Given the description of an element on the screen output the (x, y) to click on. 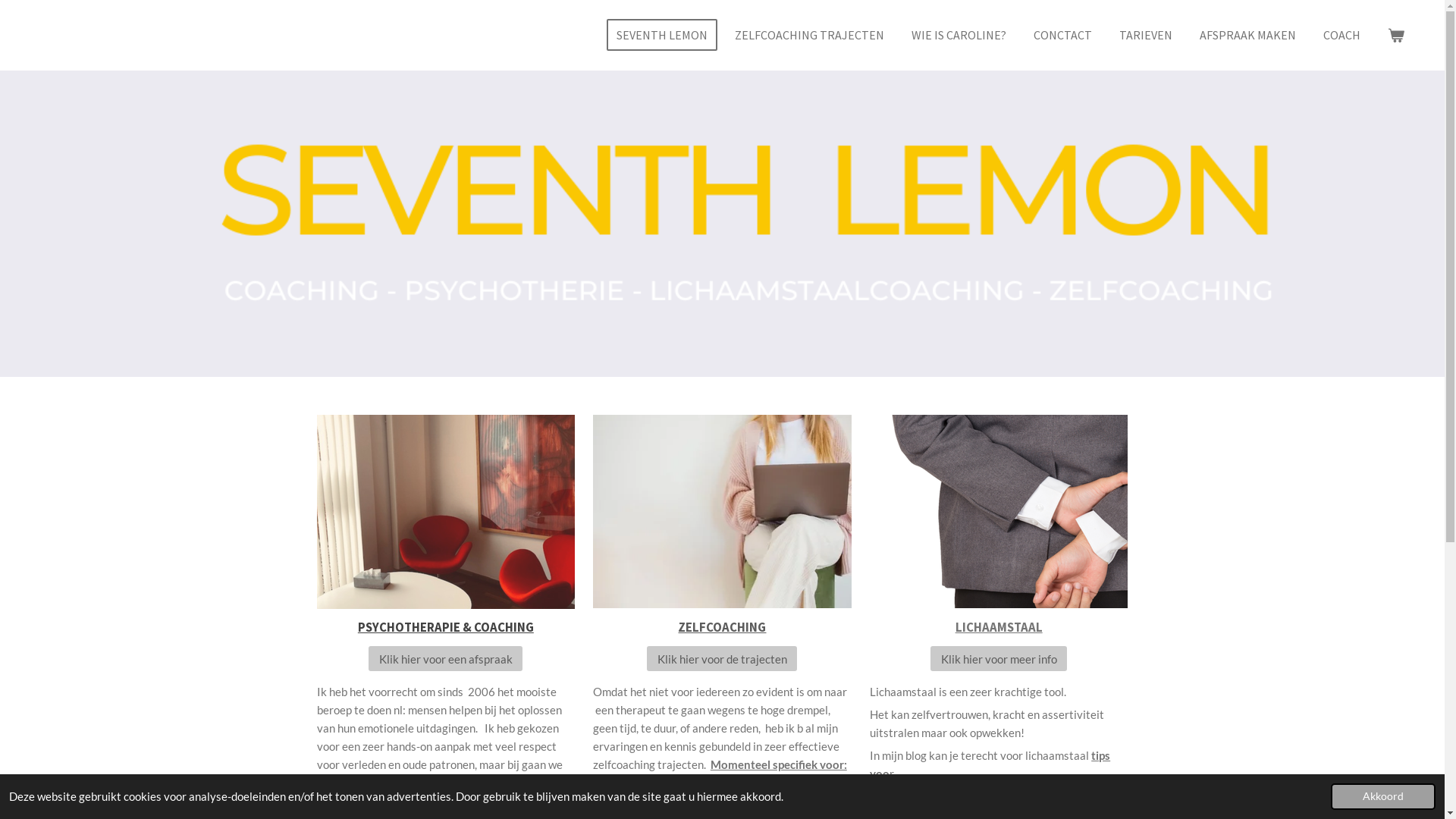
CONCTACT Element type: text (1062, 34)
WIE IS CAROLINE? Element type: text (958, 34)
TARIEVEN Element type: text (1145, 34)
AFSPRAAK MAKEN Element type: text (1247, 34)
COACH Element type: text (1341, 34)
Bekijk winkelwagen Element type: hover (1395, 34)
Akkoord Element type: text (1382, 796)
Klik hier voor een afspraak Element type: text (445, 658)
ZELFCOACHING TRAJECTEN Element type: text (809, 34)
Klik hier voor meer info Element type: text (998, 658)
SEVENTH LEMON Element type: text (661, 34)
Klik hier voor de trajecten Element type: text (721, 658)
